Given the description of an element on the screen output the (x, y) to click on. 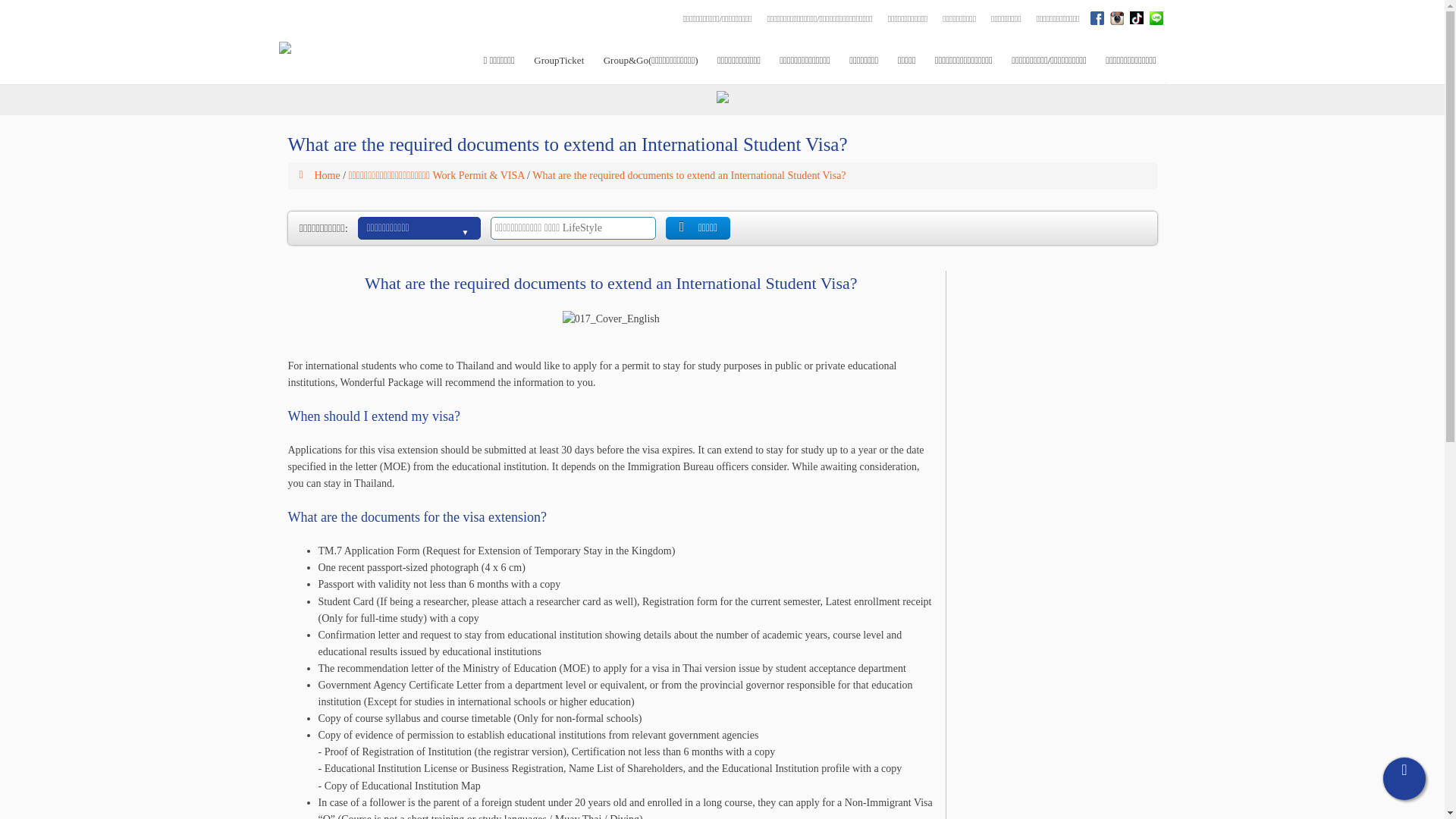
GroupTicket (559, 54)
group-ticket (559, 54)
